Given the description of an element on the screen output the (x, y) to click on. 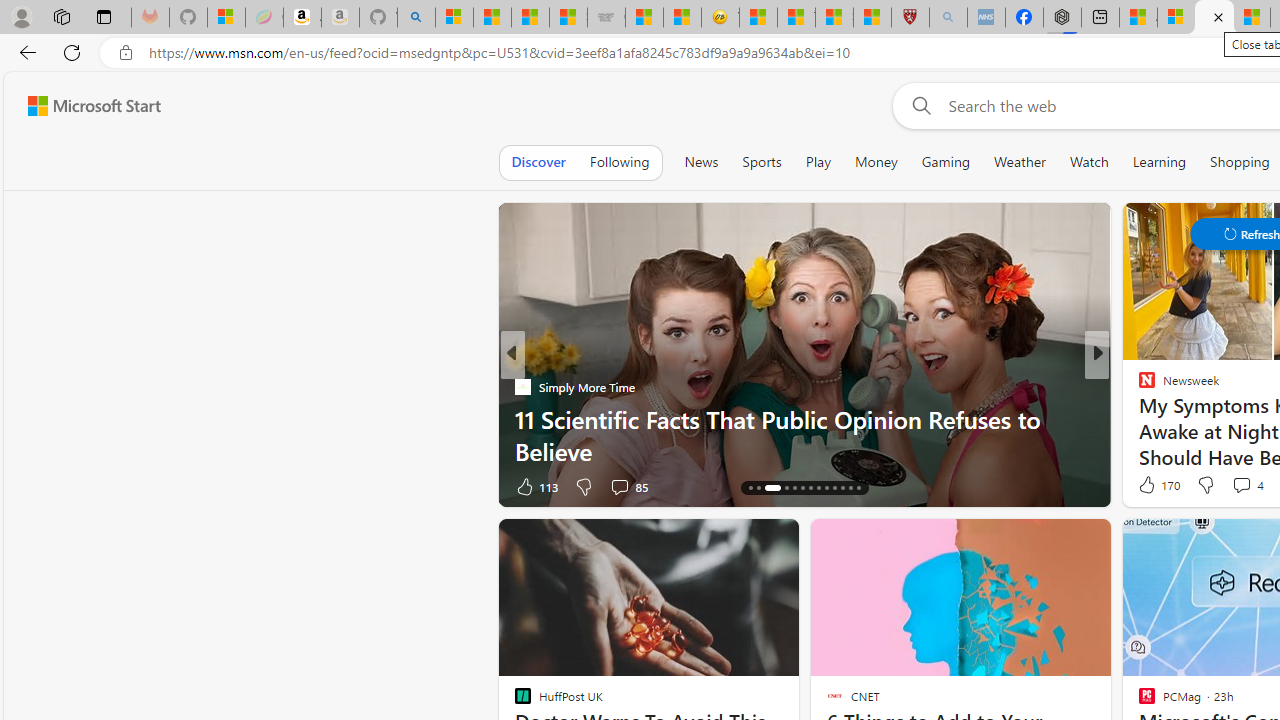
View comments 11 Comment (1234, 485)
104 Like (1151, 486)
View comments 85 Comment (628, 486)
404 Like (1151, 486)
AutomationID: tab-20 (810, 487)
View comments 2 Comment (11, 485)
Play (818, 162)
236 Like (1151, 486)
